Given the description of an element on the screen output the (x, y) to click on. 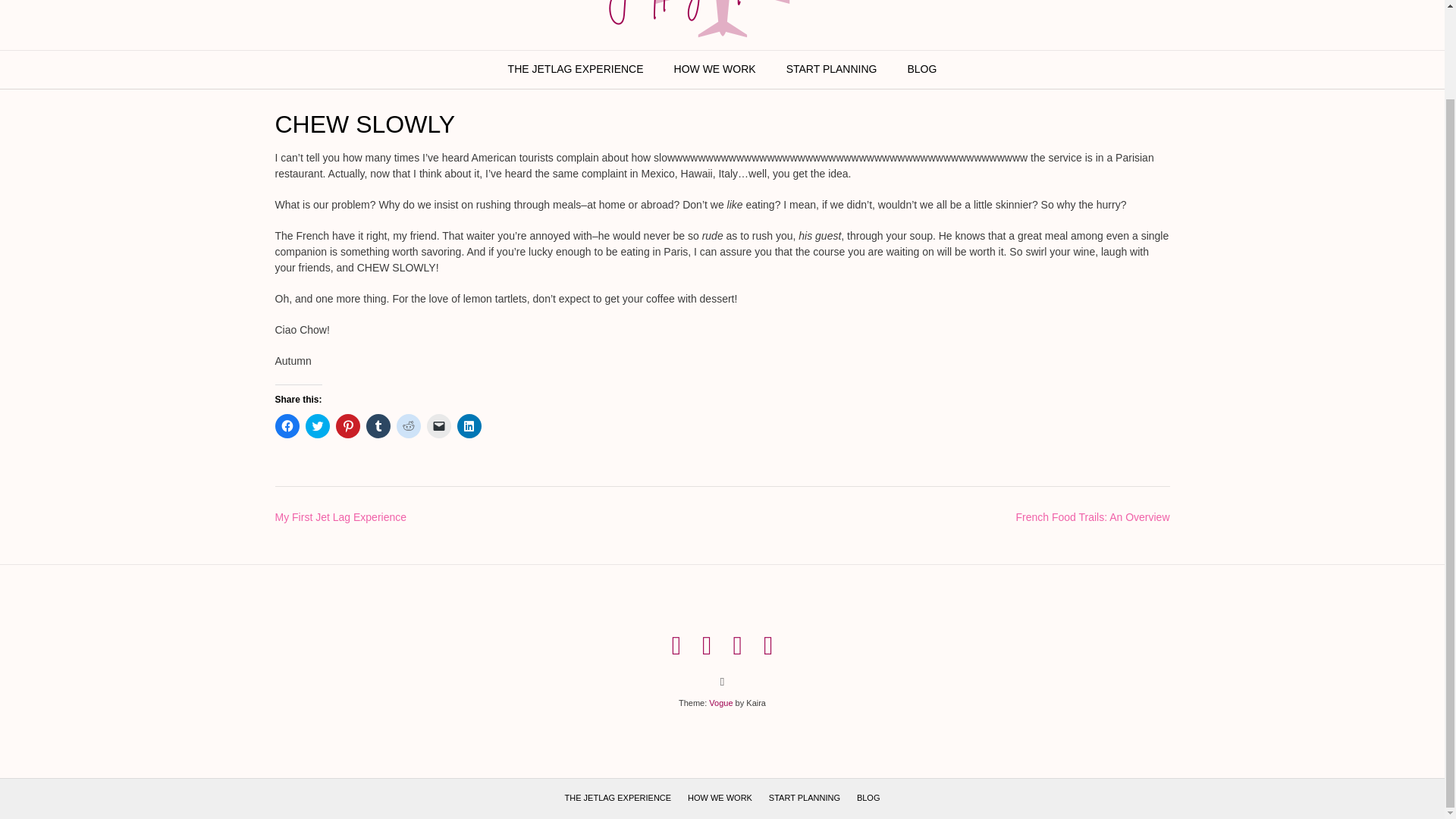
Click to share on Reddit (408, 426)
Click to share on Tumblr (377, 426)
Vogue (720, 702)
HOW WE WORK (719, 797)
My First Jet Lag Experience (340, 517)
French Food Trails: An Overview (1091, 517)
Click to email a link to a friend (437, 426)
THE JETLAG EXPERIENCE (618, 797)
Click to share on Facebook (286, 426)
BLOG (921, 69)
